Given the description of an element on the screen output the (x, y) to click on. 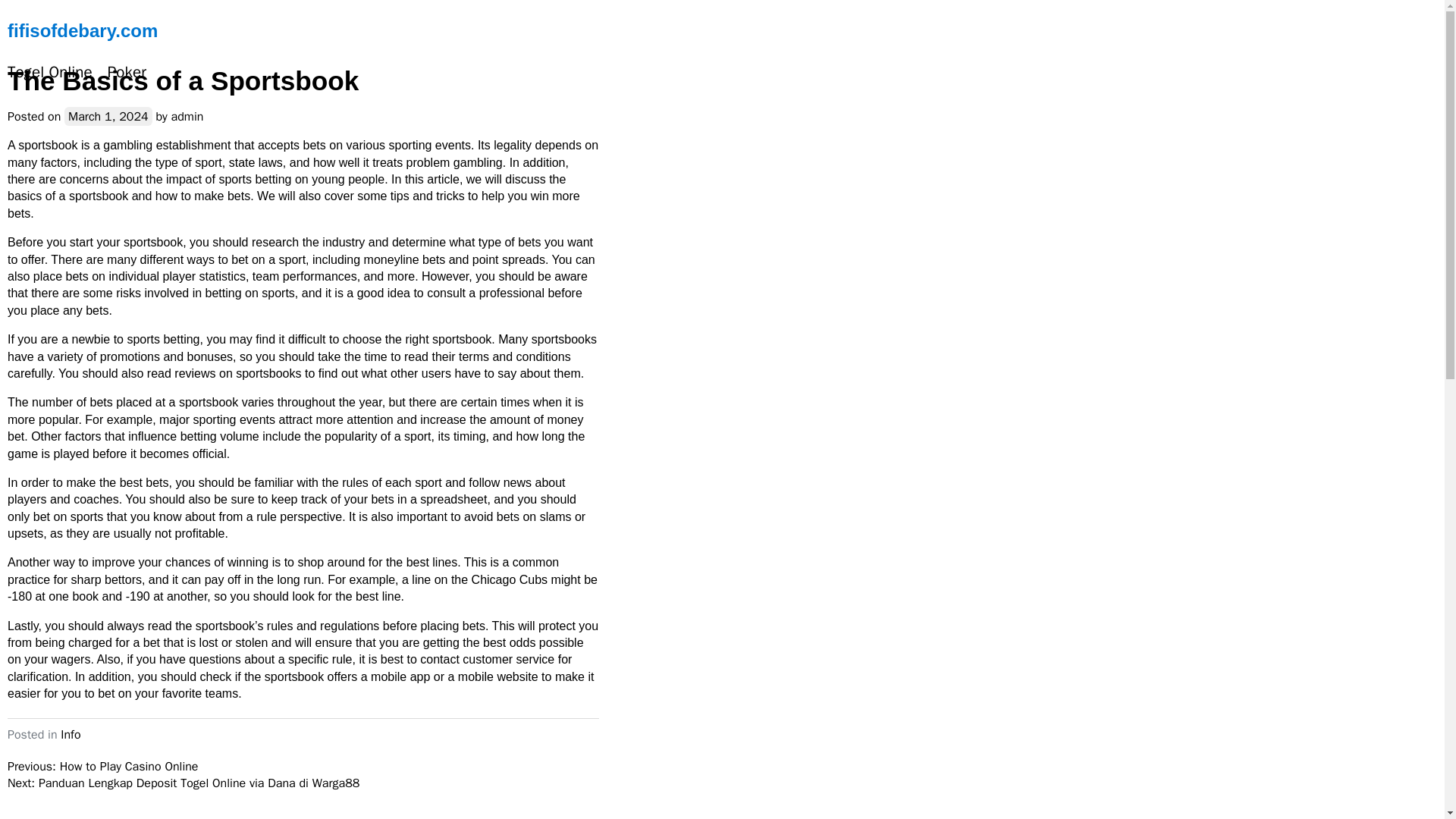
admin (187, 116)
fifisofdebary.com (82, 30)
Togel Online (50, 73)
Info (70, 734)
March 1, 2024 (108, 116)
Poker (127, 73)
Previous: How to Play Casino Online (102, 766)
